Given the description of an element on the screen output the (x, y) to click on. 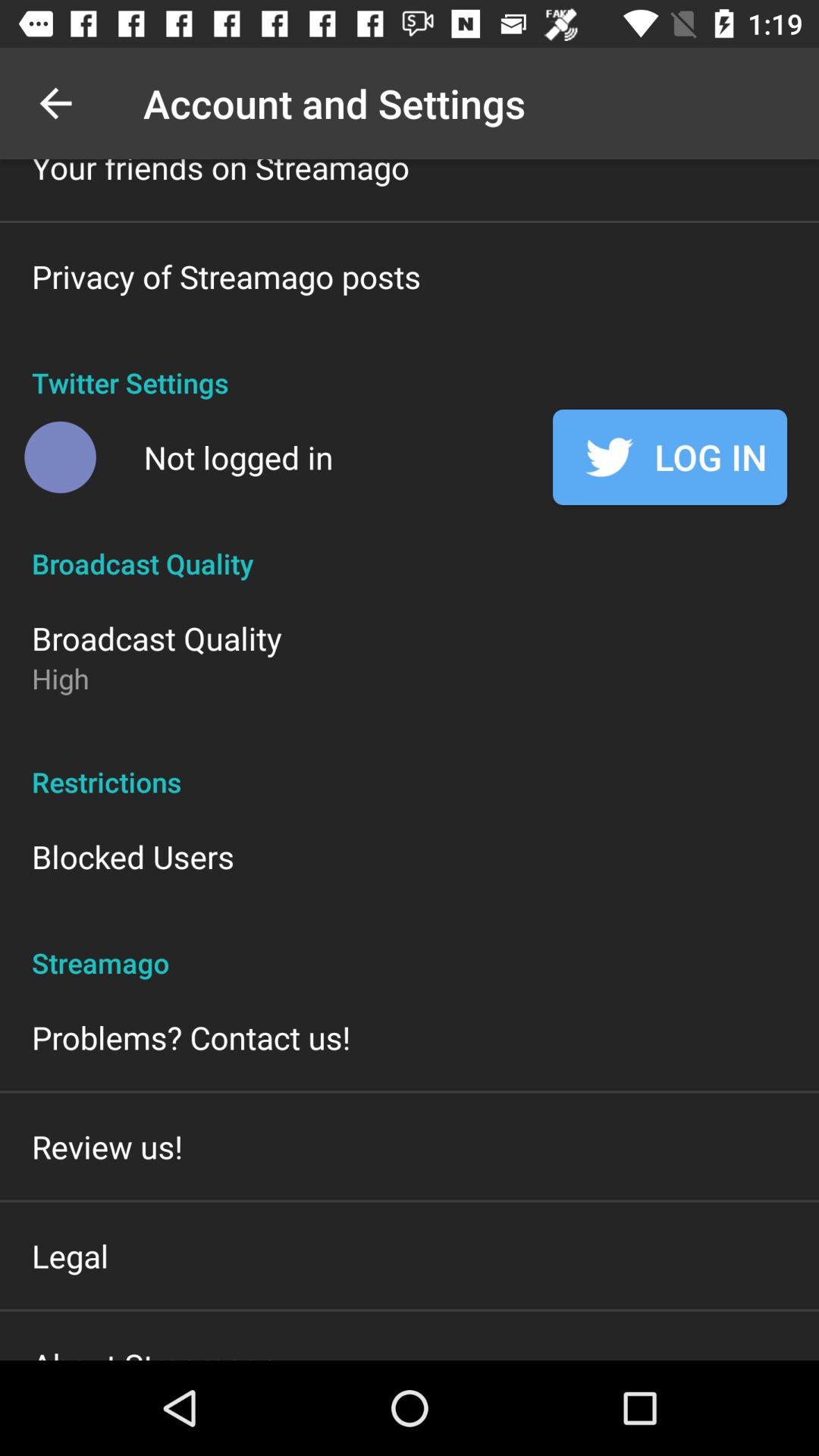
open the icon to the right of not logged in item (669, 457)
